Given the description of an element on the screen output the (x, y) to click on. 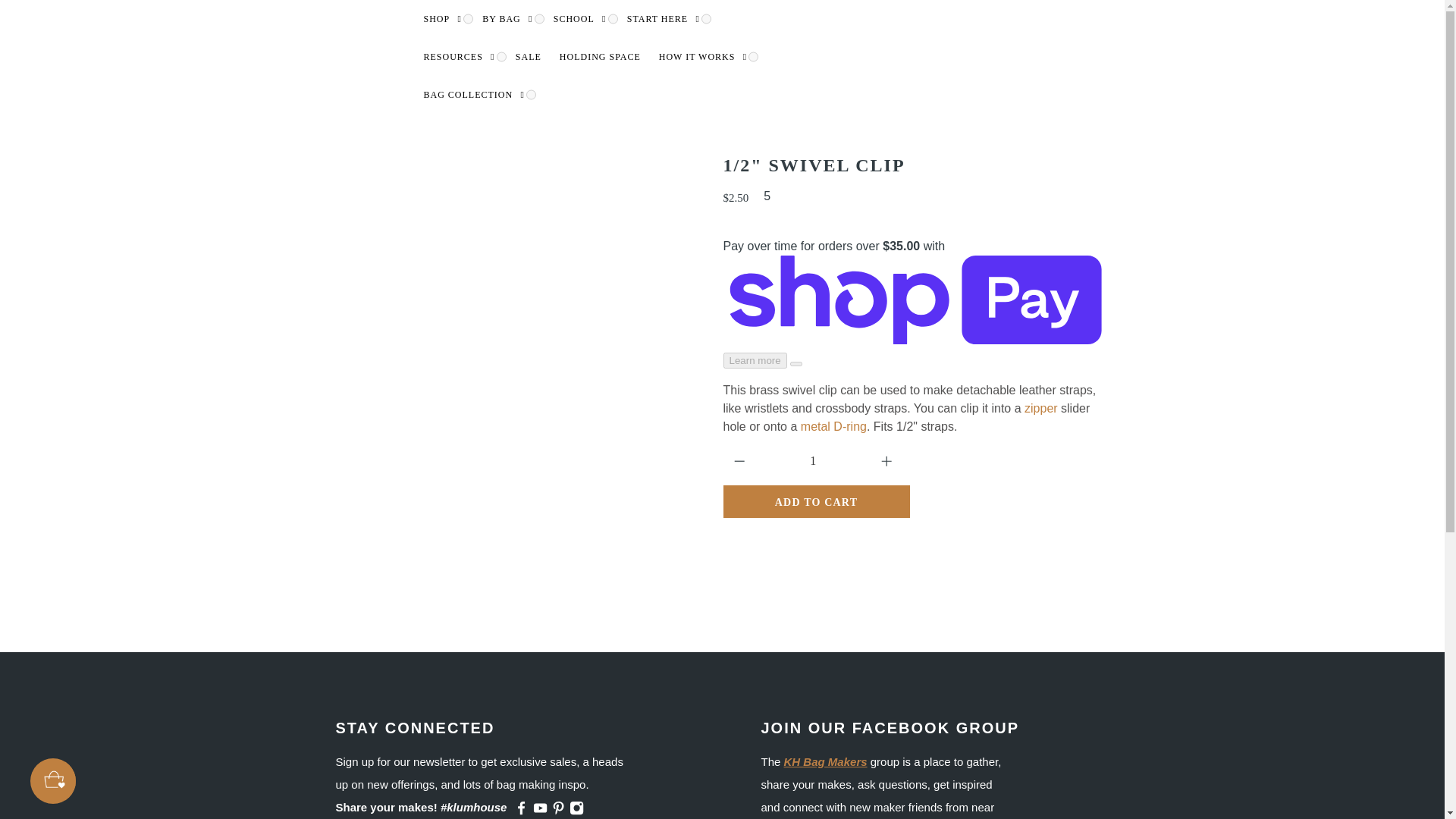
Klum House on Facebook (520, 811)
1 (813, 461)
Klum House on Instagram (576, 811)
BY BAG (503, 18)
SHOP (438, 18)
Klum House on YouTube (539, 811)
Klum House on Pinterest (558, 811)
SCHOOL (576, 18)
